Given the description of an element on the screen output the (x, y) to click on. 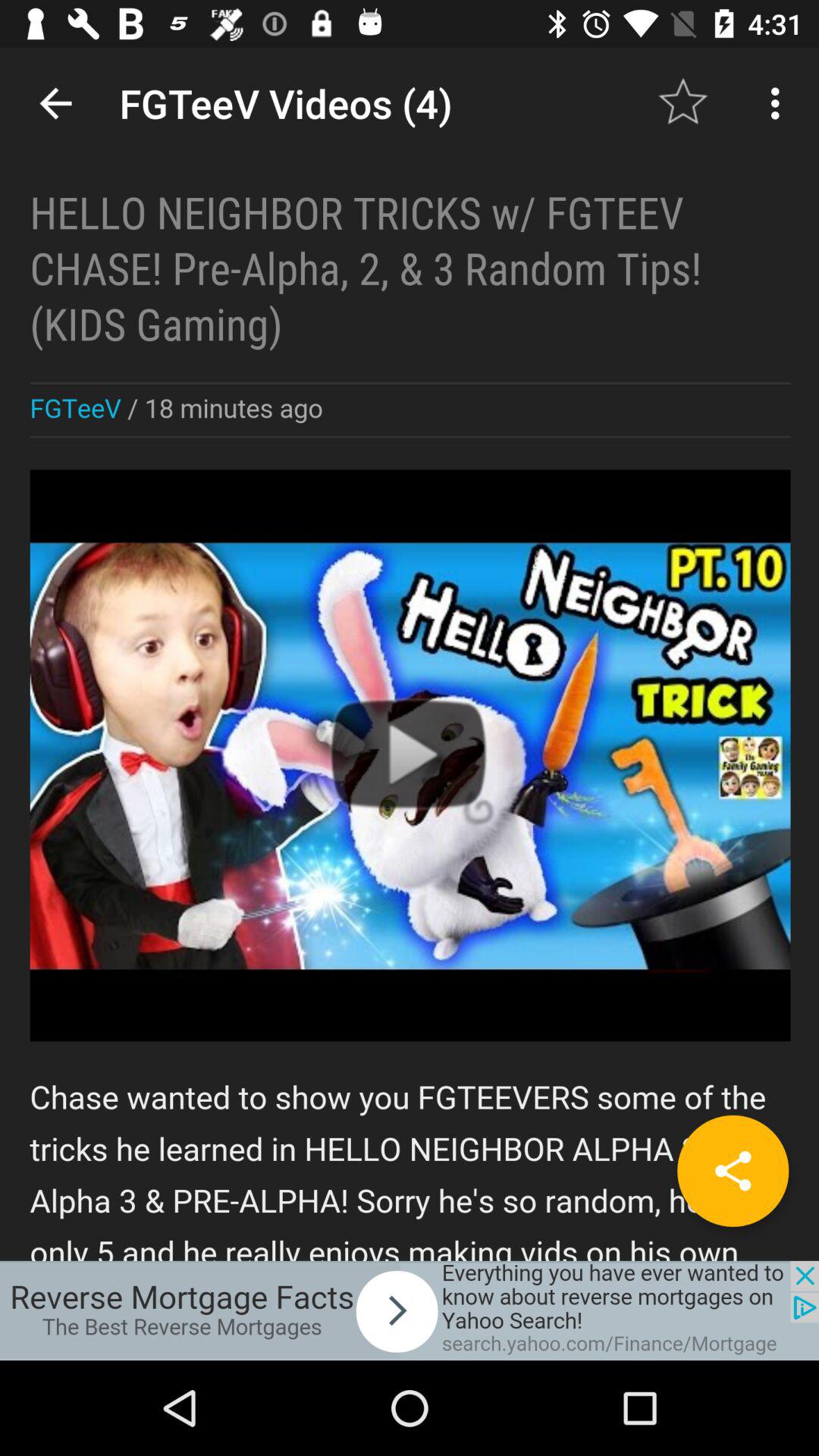
go to advertisement (409, 1310)
